Given the description of an element on the screen output the (x, y) to click on. 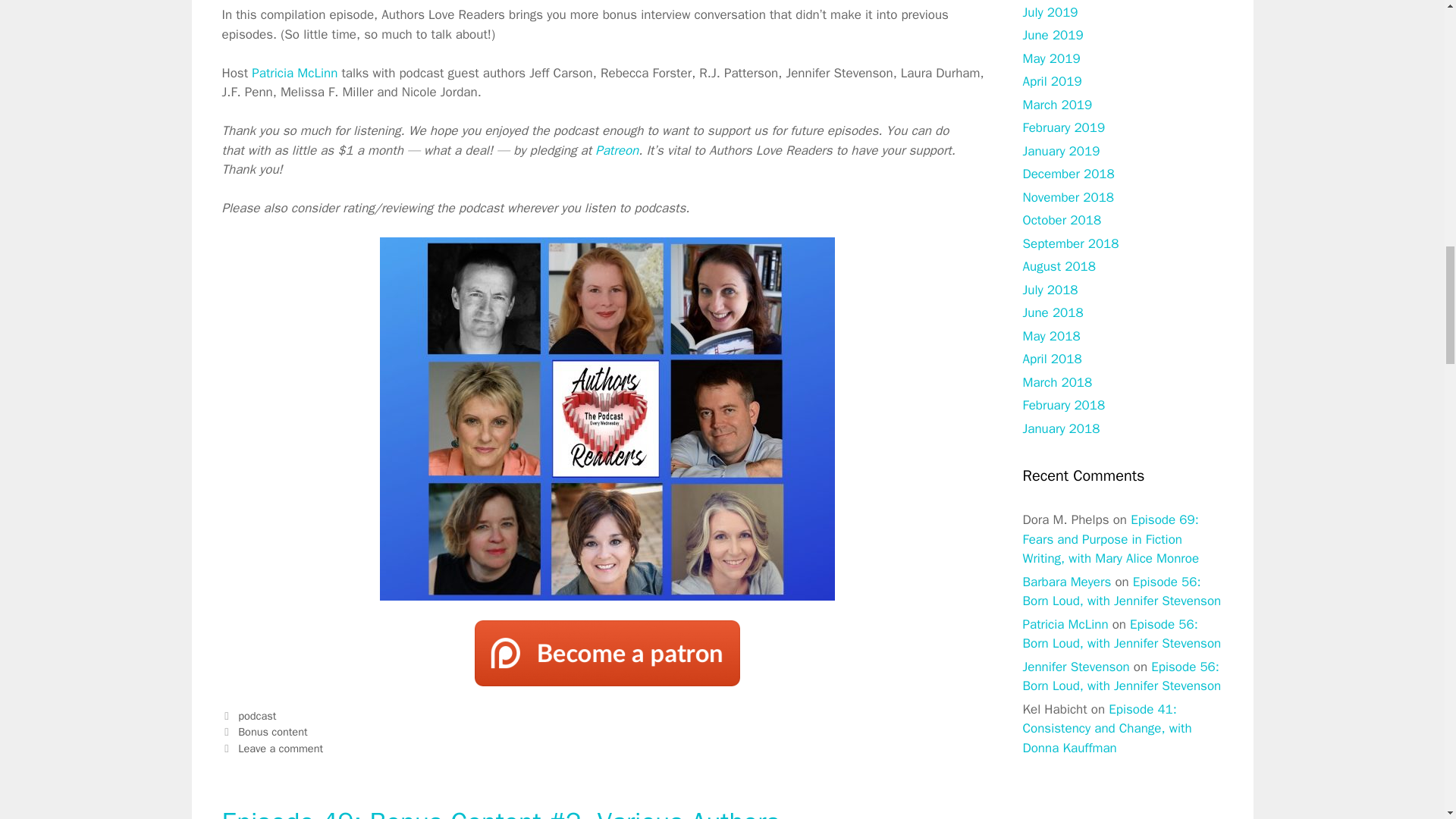
podcast (257, 715)
Leave a comment (280, 748)
Patricia McLinn (294, 73)
Patreon (617, 150)
Bonus content (272, 731)
